Given the description of an element on the screen output the (x, y) to click on. 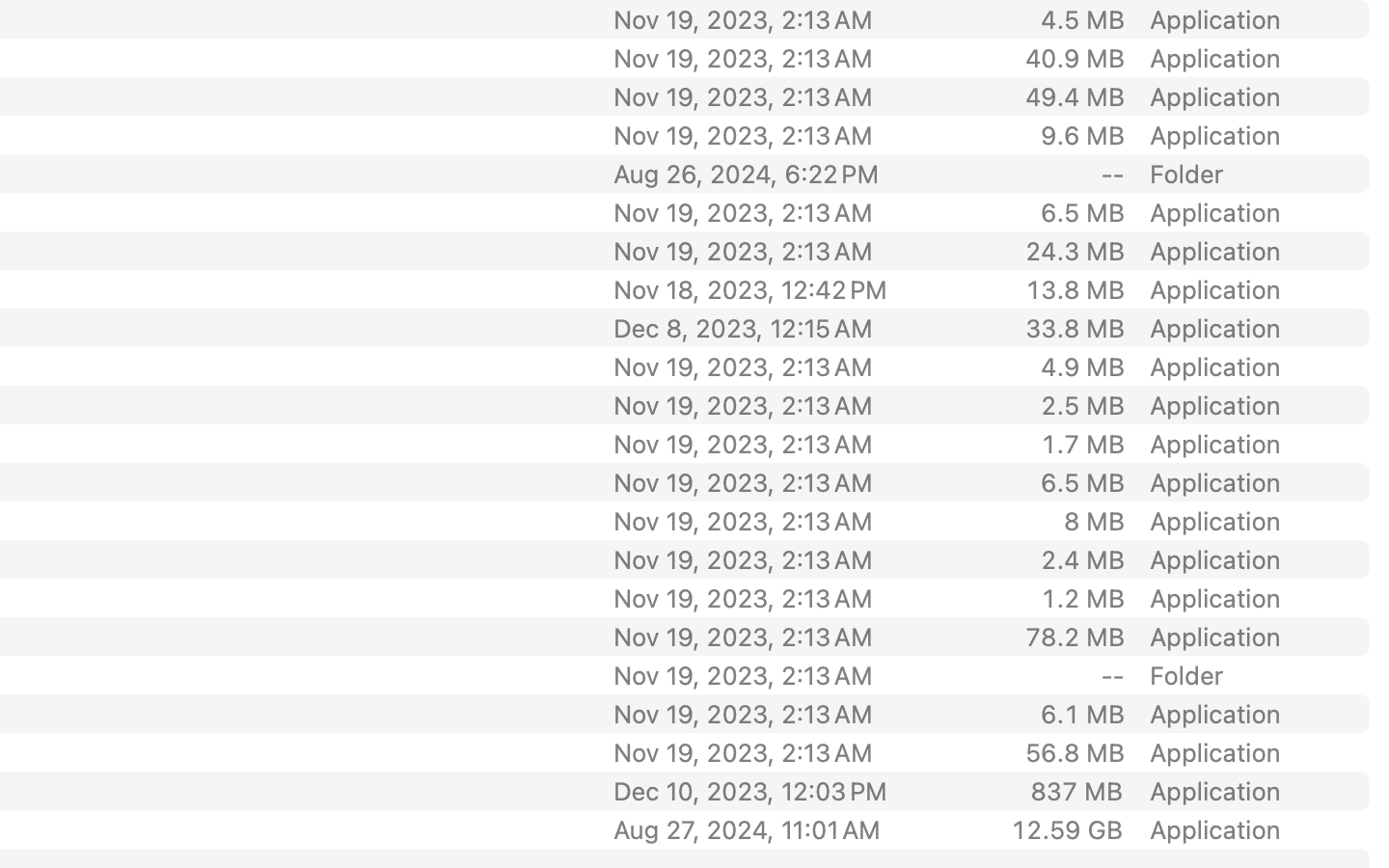
Dec 10, 2023, 12:03 PM Element type: AXStaticText (774, 790)
Aug 27, 2024, 11:01 AM Element type: AXStaticText (774, 828)
Dec 8, 2023, 12:15 AM Element type: AXStaticText (774, 327)
12.59 GB Element type: AXStaticText (1066, 828)
13.8 MB Element type: AXStaticText (1074, 288)
